Given the description of an element on the screen output the (x, y) to click on. 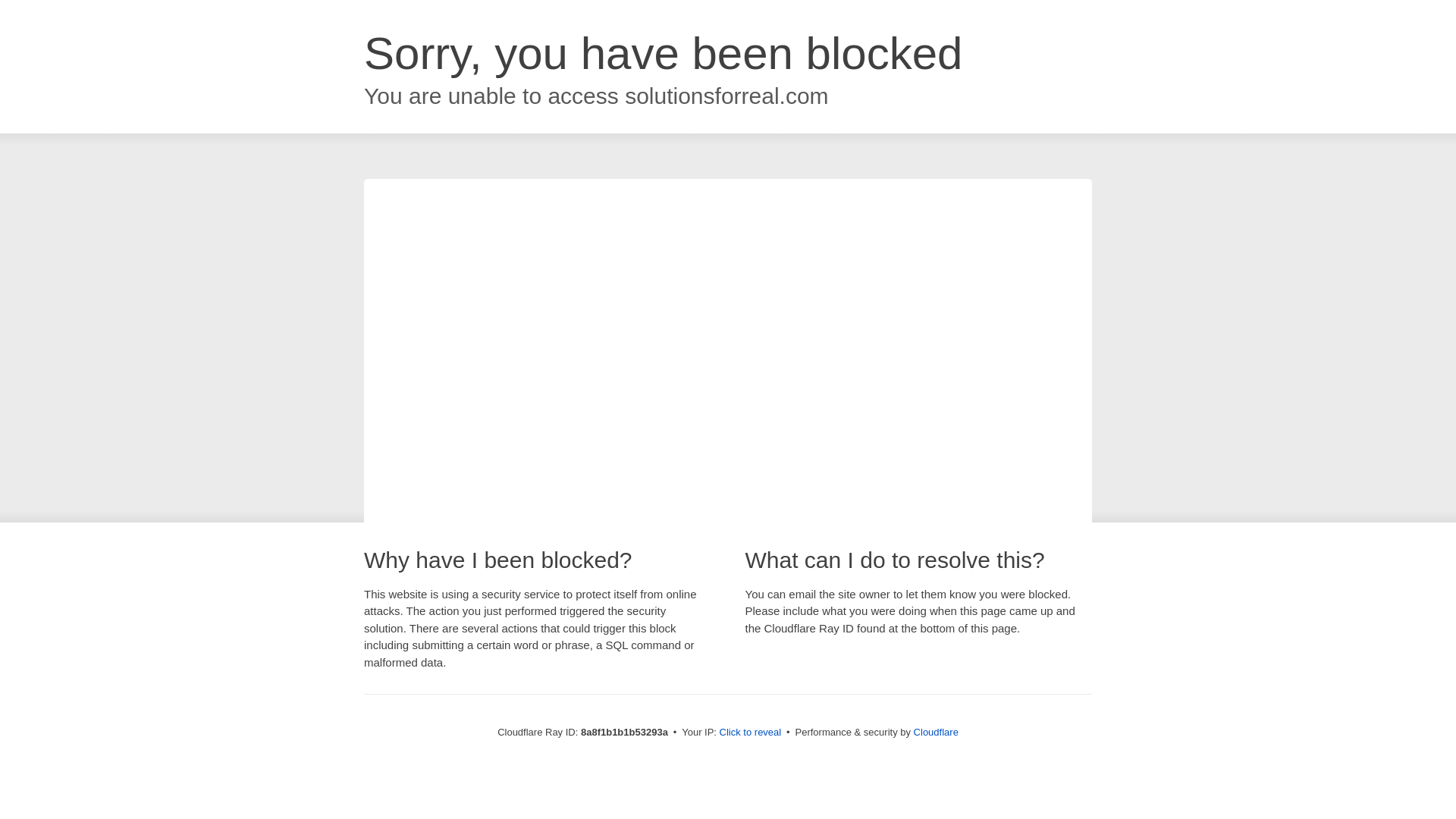
Click to reveal (750, 732)
Cloudflare (936, 731)
